Given the description of an element on the screen output the (x, y) to click on. 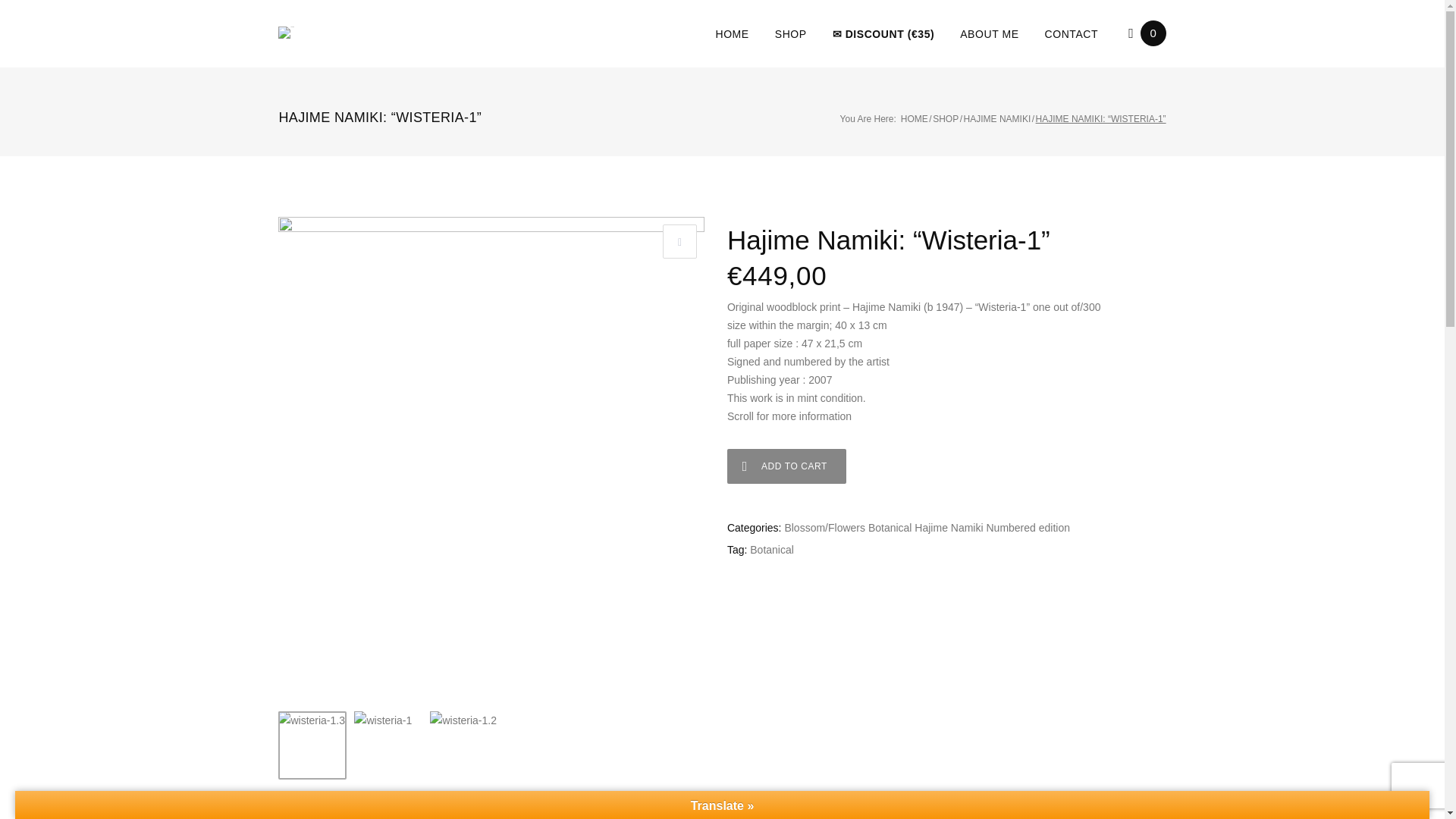
Hajime Namiki (948, 527)
Botanical (771, 549)
wisteria-1.2 (463, 745)
CONTACT (1071, 33)
HOME (731, 33)
ABOUT ME (989, 33)
ADD TO CART (785, 466)
wisteria-1 (387, 745)
Shop (945, 118)
HAJIME NAMIKI (996, 118)
SHOP (790, 33)
Home (914, 118)
SHOP (945, 118)
HOME (914, 118)
